Given the description of an element on the screen output the (x, y) to click on. 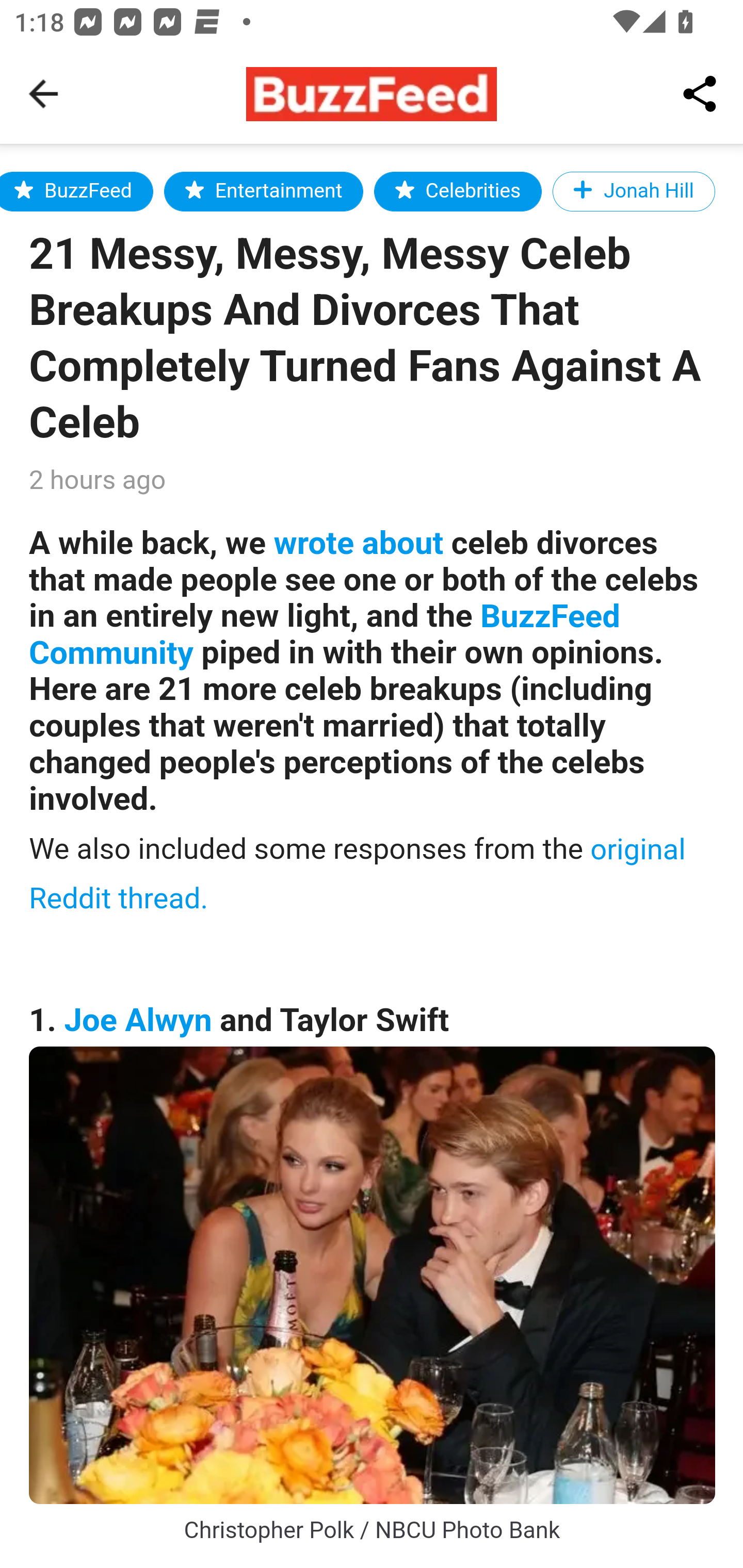
BuzzFeed (76, 191)
Entertainment (263, 191)
Celebrities (458, 191)
Jonah Hill (634, 191)
wrote about (358, 542)
BuzzFeed Community (324, 635)
original Reddit thread. (357, 872)
Joe Alwyn (138, 1020)
